Given the description of an element on the screen output the (x, y) to click on. 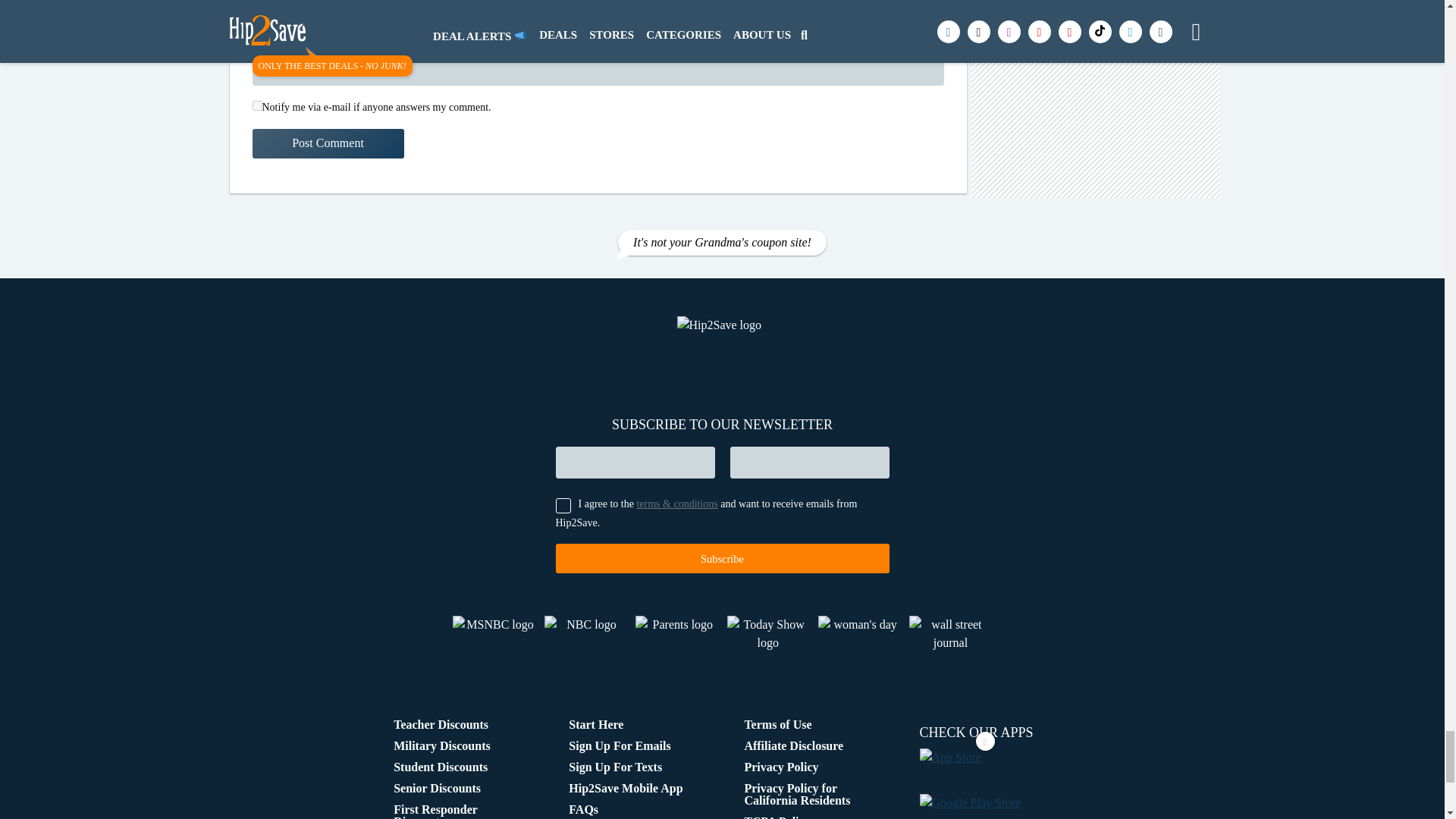
Post Comment (327, 143)
on (256, 105)
Subscribe (721, 558)
